Given the description of an element on the screen output the (x, y) to click on. 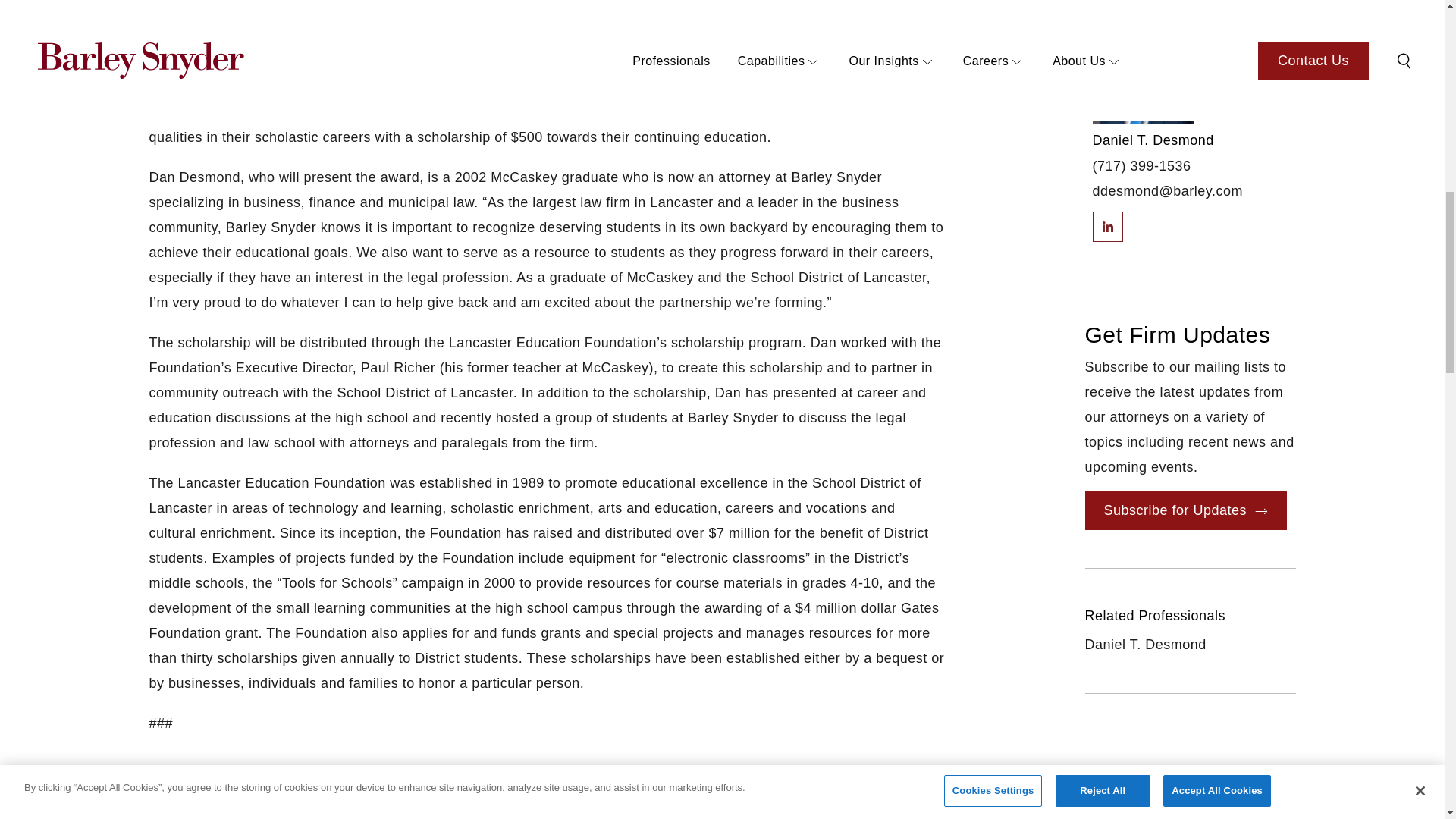
Daniel T. Desmond (1152, 140)
Daniel T. Desmond (325, 816)
